Given the description of an element on the screen output the (x, y) to click on. 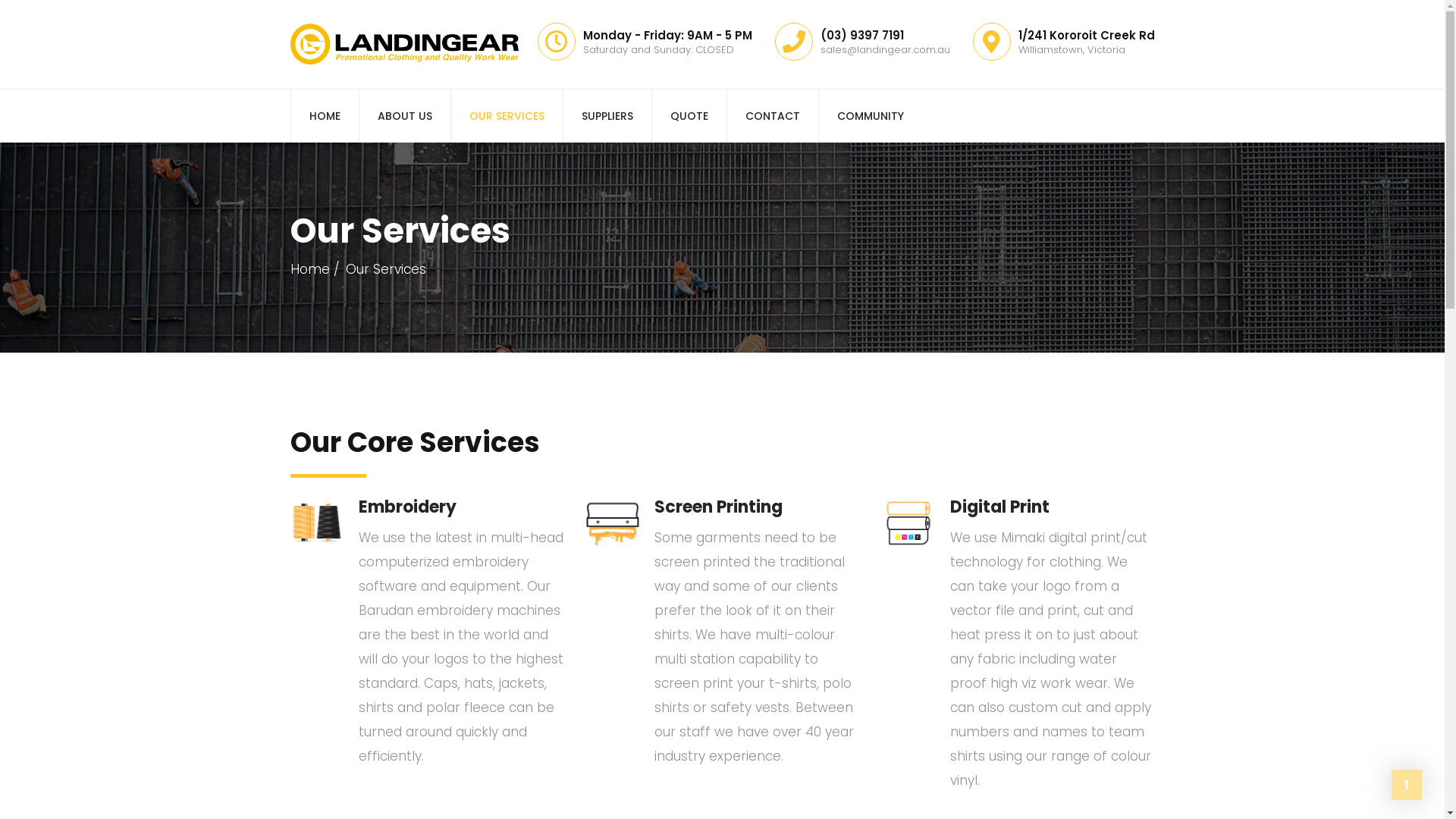
COMMUNITY Element type: text (869, 115)
SUPPLIERS Element type: text (606, 115)
HOME Element type: text (323, 115)
ABOUT US Element type: text (403, 115)
OUR SERVICES Element type: text (506, 115)
QUOTE Element type: text (687, 115)
Home Element type: text (313, 269)
CONTACT Element type: text (772, 115)
